Given the description of an element on the screen output the (x, y) to click on. 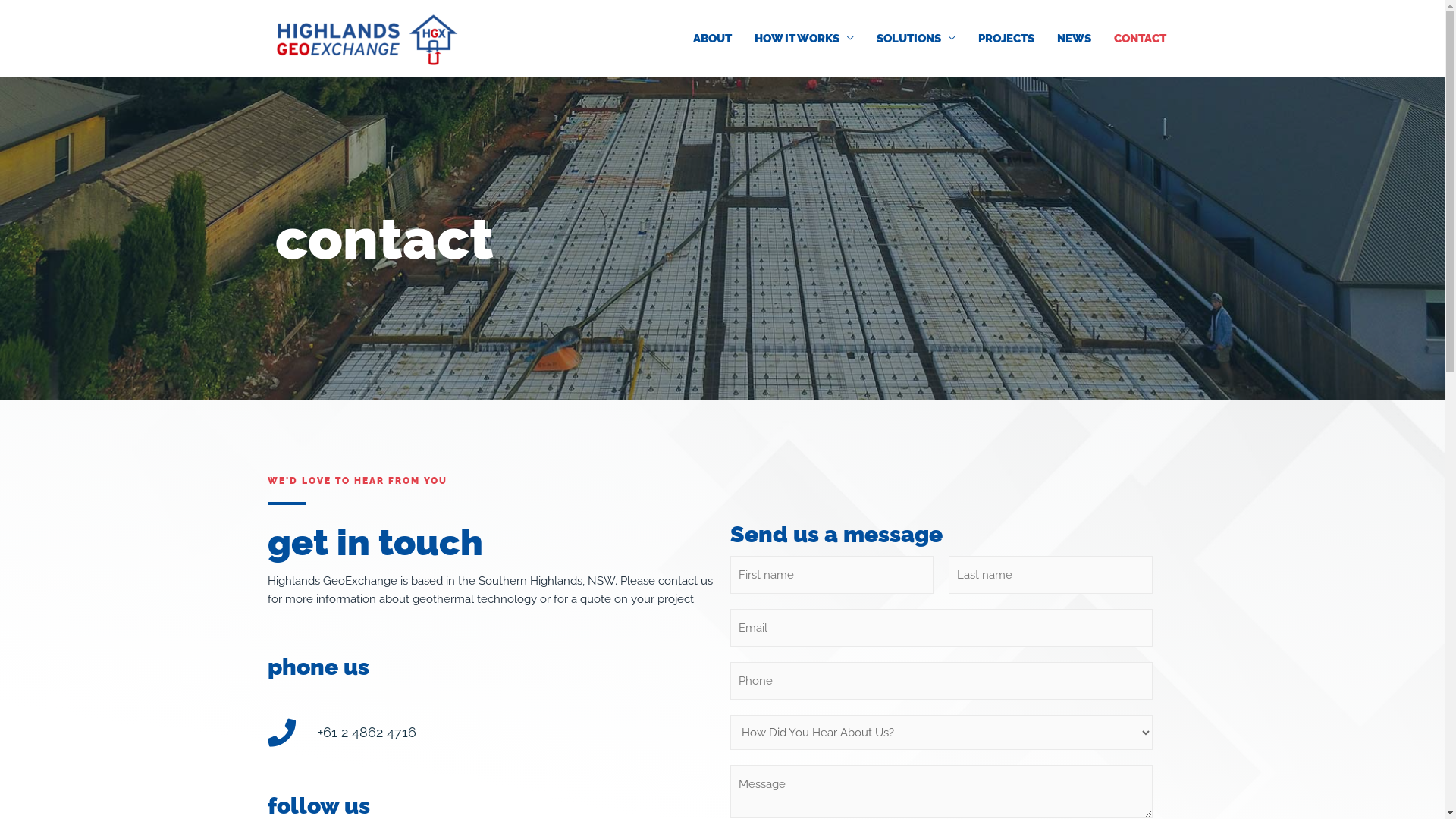
ABOUT Element type: text (711, 38)
HOW IT WORKS Element type: text (804, 38)
SOLUTIONS Element type: text (915, 38)
PROJECTS Element type: text (1005, 38)
CONTACT Element type: text (1139, 38)
NEWS Element type: text (1072, 38)
+61 2 4862 4716 Element type: text (493, 732)
